Given the description of an element on the screen output the (x, y) to click on. 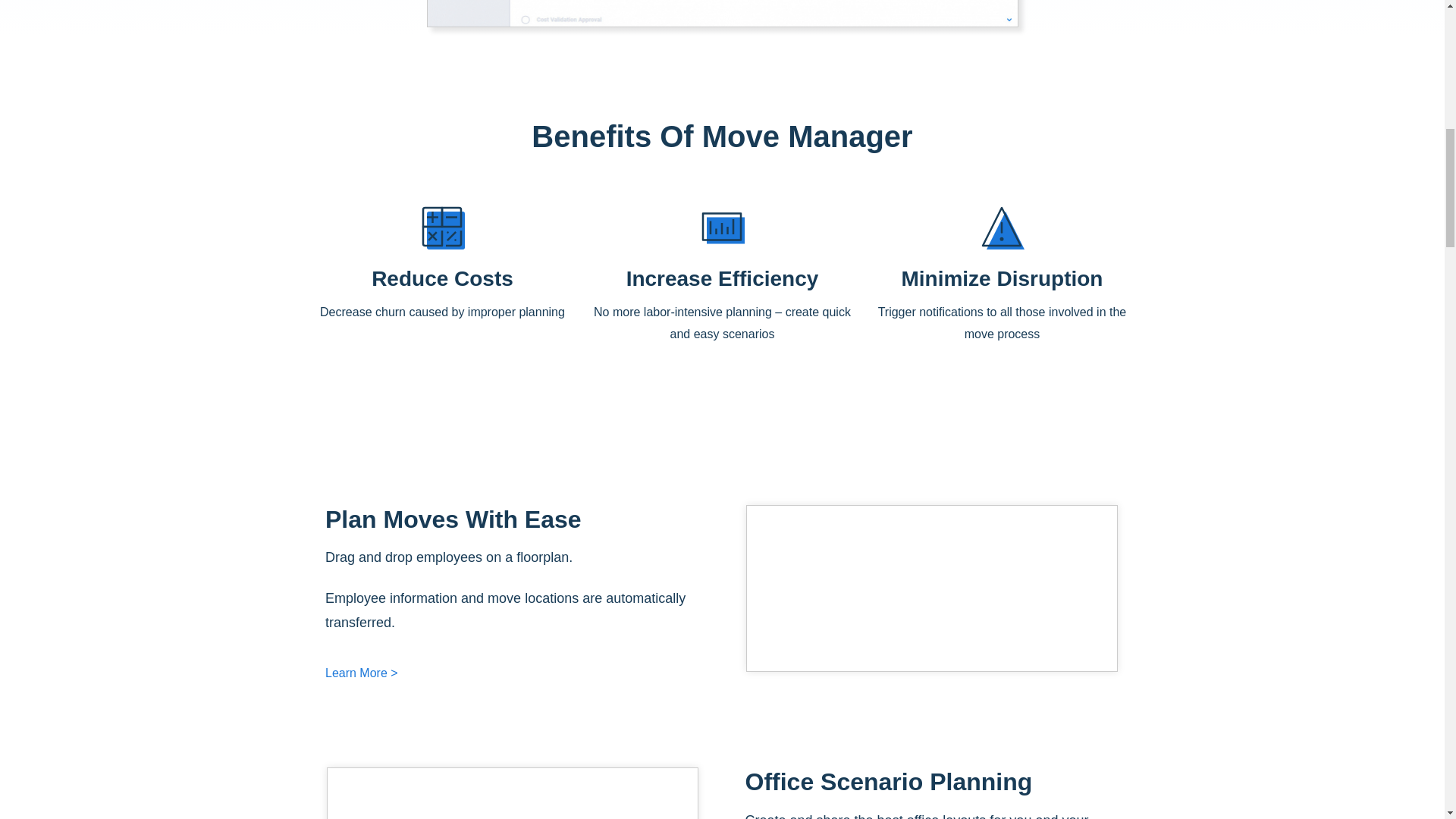
move-manager-scenario-1 (512, 793)
service-request (721, 13)
move-manager-drag-drop-1 (931, 588)
